Given the description of an element on the screen output the (x, y) to click on. 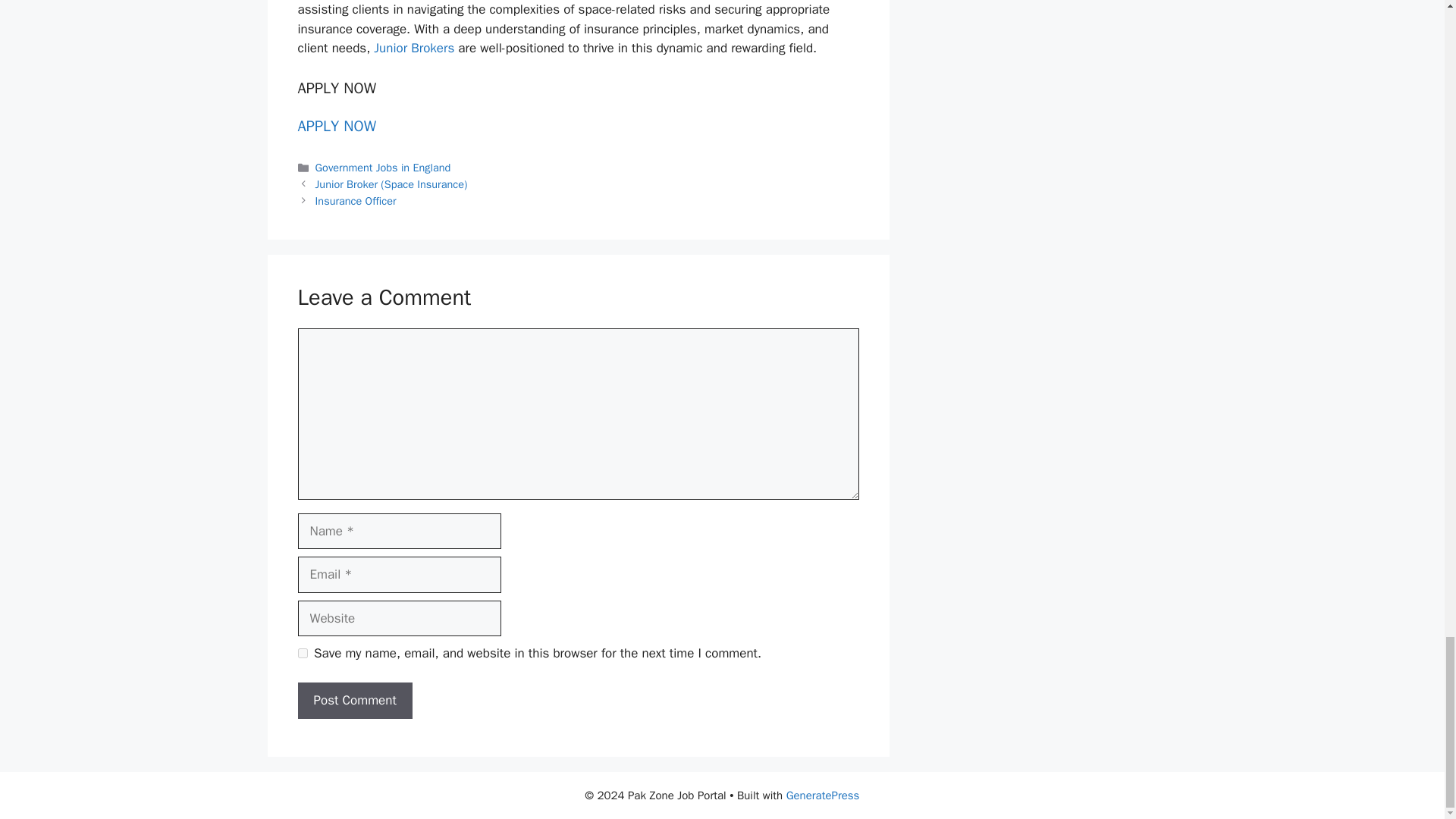
Junior Brokers (414, 48)
Post Comment (354, 700)
yes (302, 653)
